Given the description of an element on the screen output the (x, y) to click on. 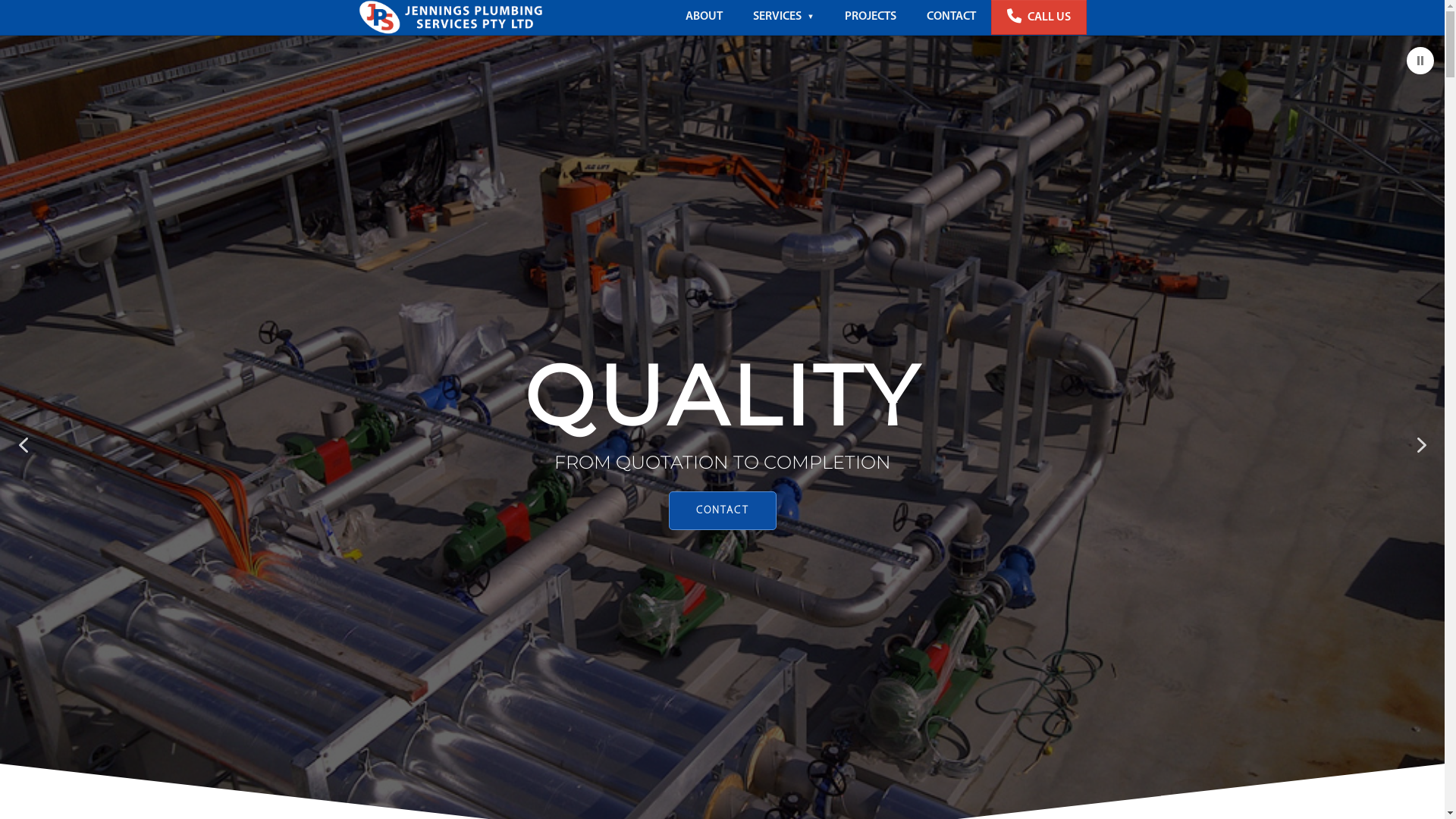
 CALL US Element type: text (1038, 17)
CONTACT Element type: text (722, 510)
PROJECTS Element type: text (870, 16)
CONTACT Element type: text (951, 16)
SERVICES Element type: text (783, 16)
ABOUT Element type: text (703, 16)
